Given the description of an element on the screen output the (x, y) to click on. 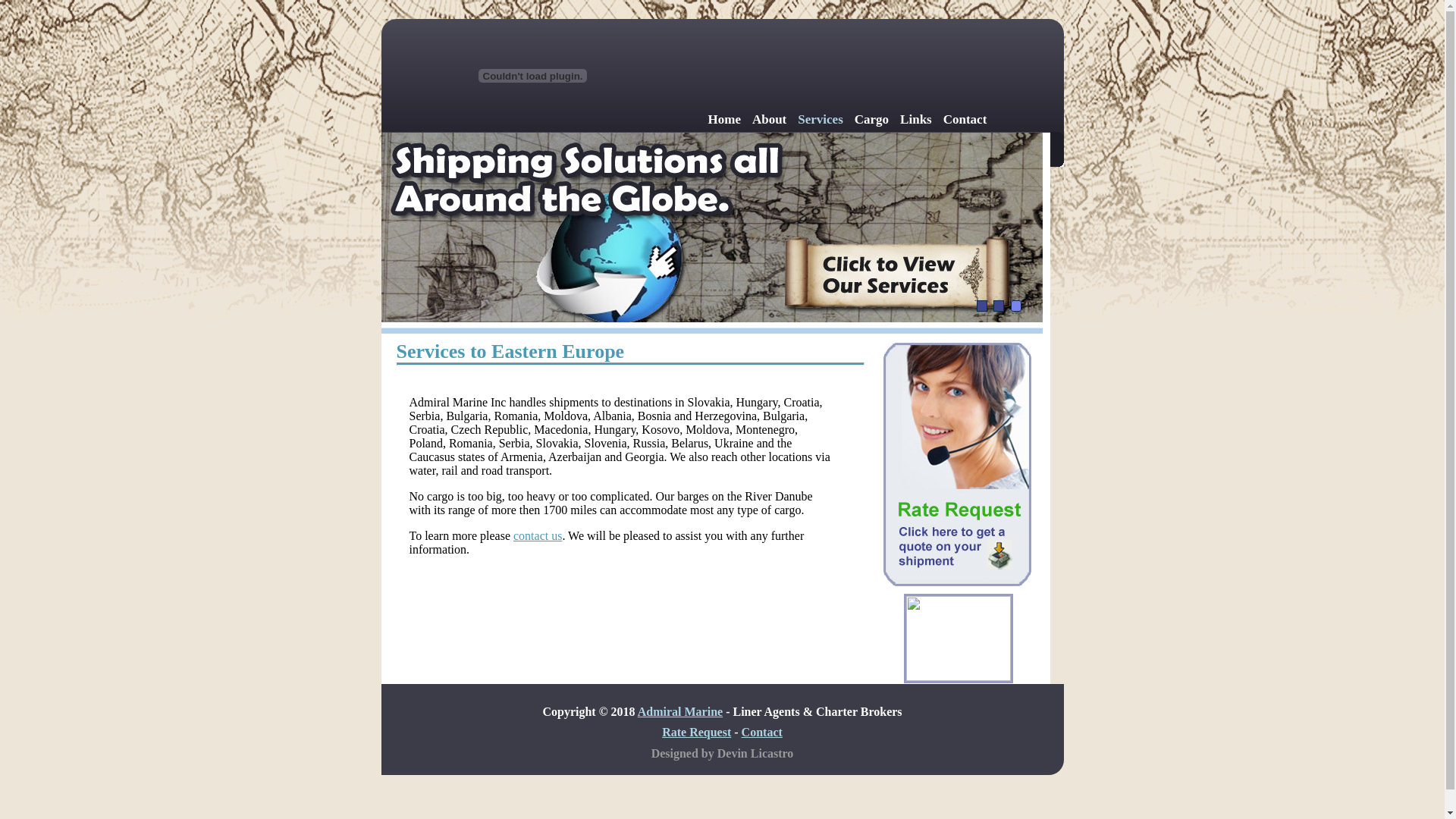
3 Element type: text (1015, 305)
Services Element type: text (819, 119)
Admiral Marine Element type: text (679, 711)
2 Element type: text (998, 305)
Links Element type: text (915, 119)
Rate Request Element type: text (696, 731)
Cargo Element type: text (871, 119)
contact us Element type: text (537, 535)
Contact Element type: text (965, 119)
Home Element type: text (724, 119)
About Element type: text (769, 119)
Contact Element type: text (761, 731)
1 Element type: text (981, 305)
